Given the description of an element on the screen output the (x, y) to click on. 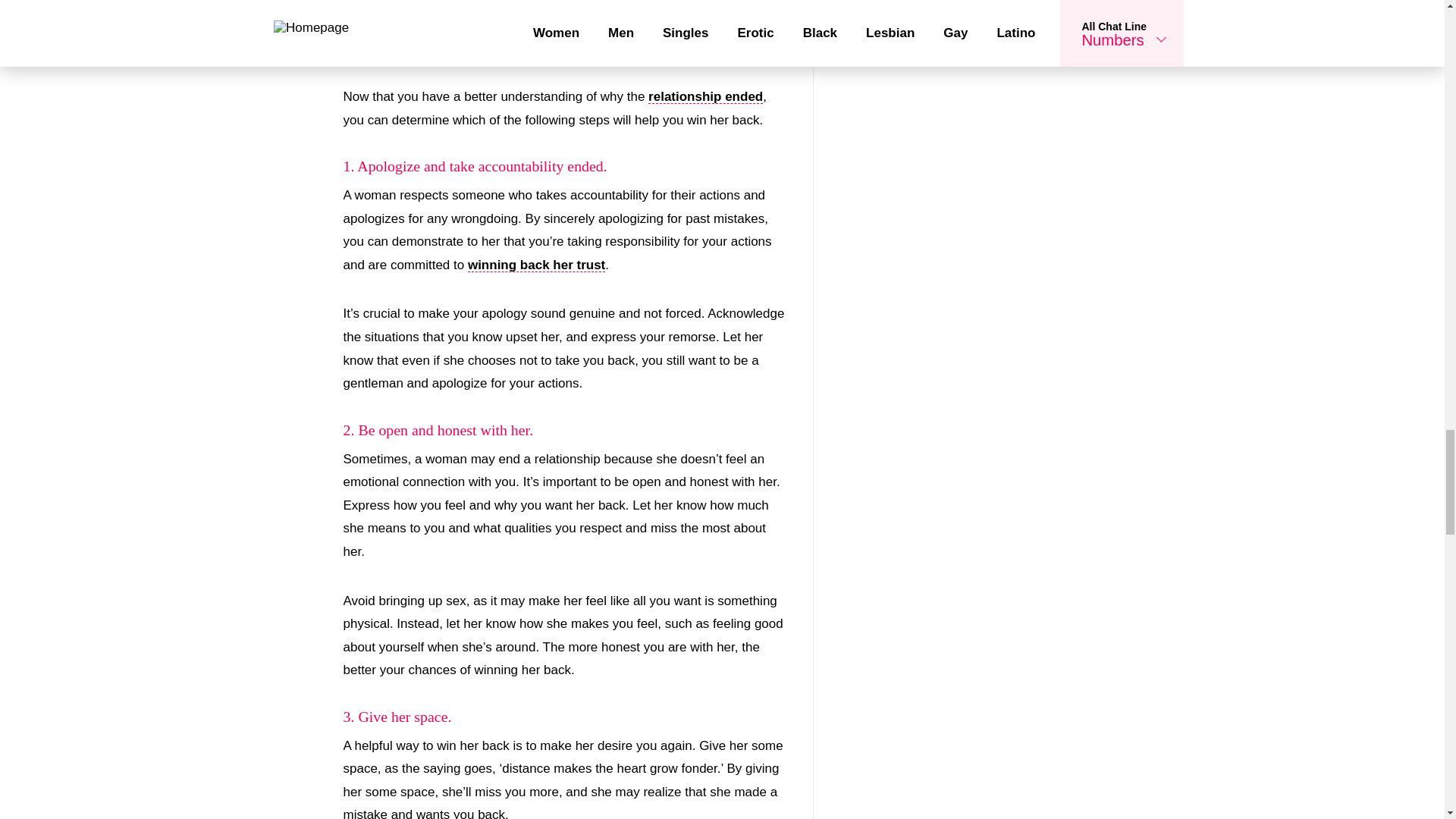
relationship ended (704, 97)
winning back her trust (536, 264)
